Given the description of an element on the screen output the (x, y) to click on. 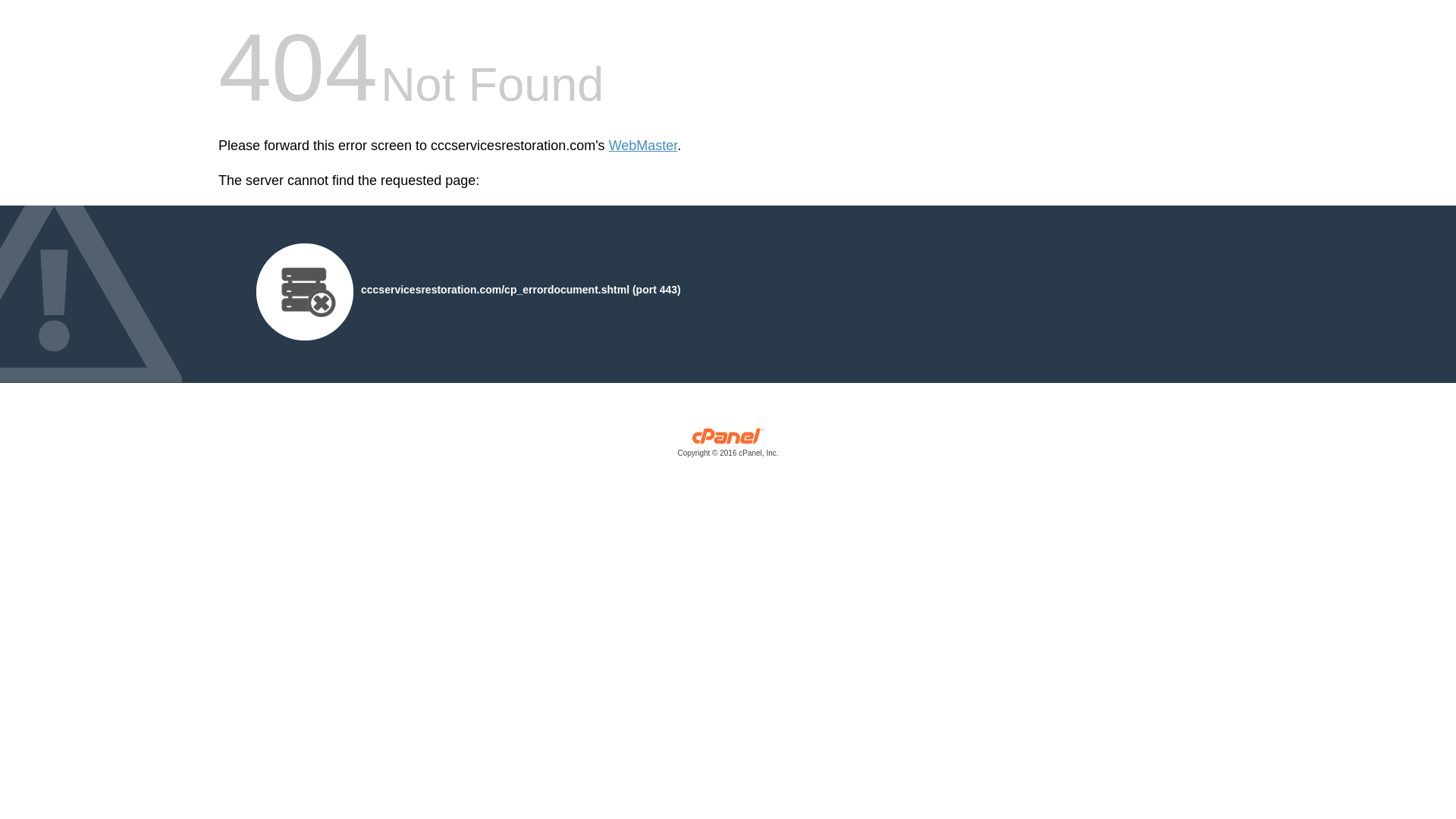
cPanel, Inc. (727, 446)
WebMaster (643, 145)
